Given the description of an element on the screen output the (x, y) to click on. 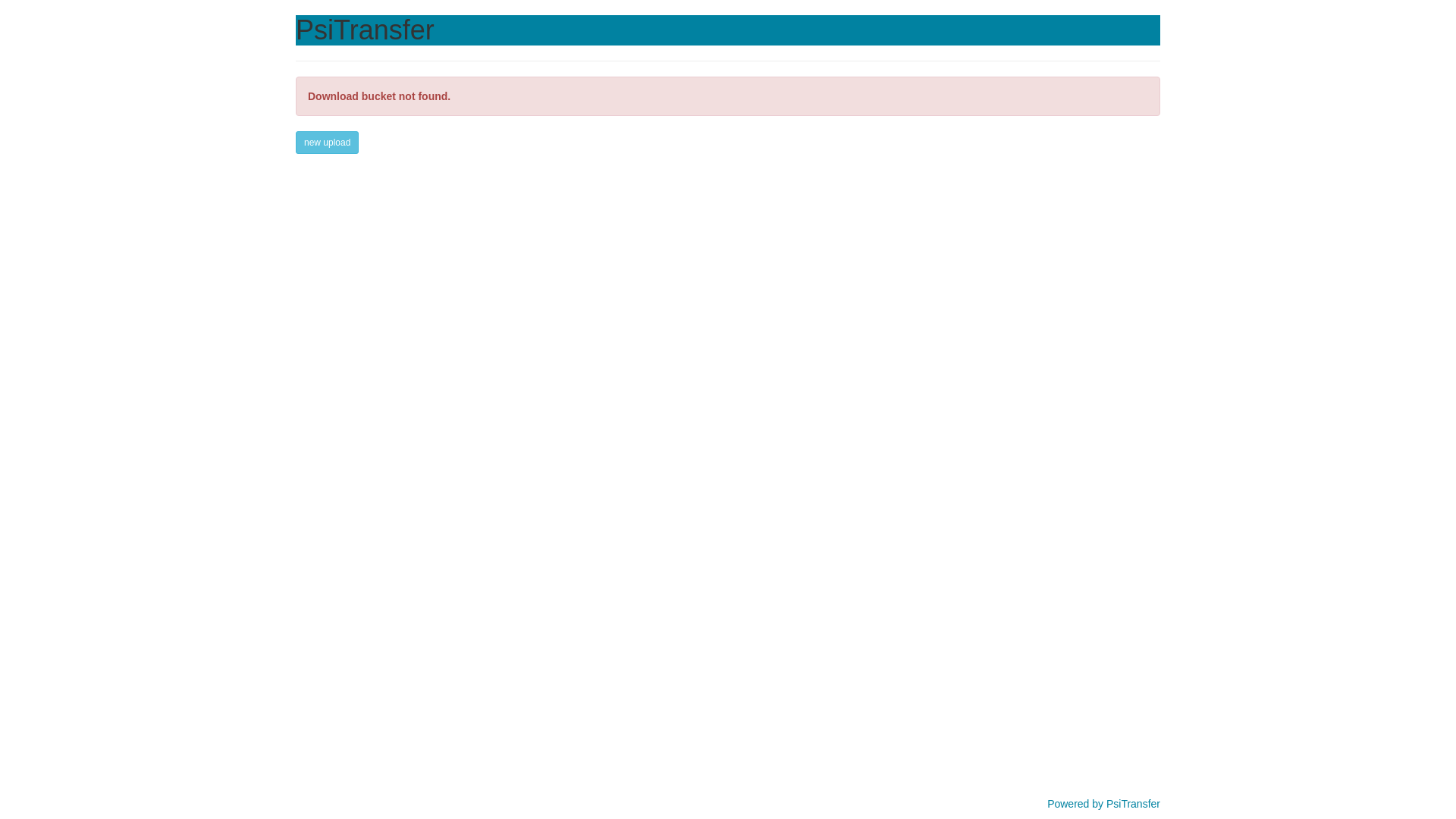
Powered by PsiTransfer Element type: text (1103, 803)
new upload Element type: text (326, 142)
